Given the description of an element on the screen output the (x, y) to click on. 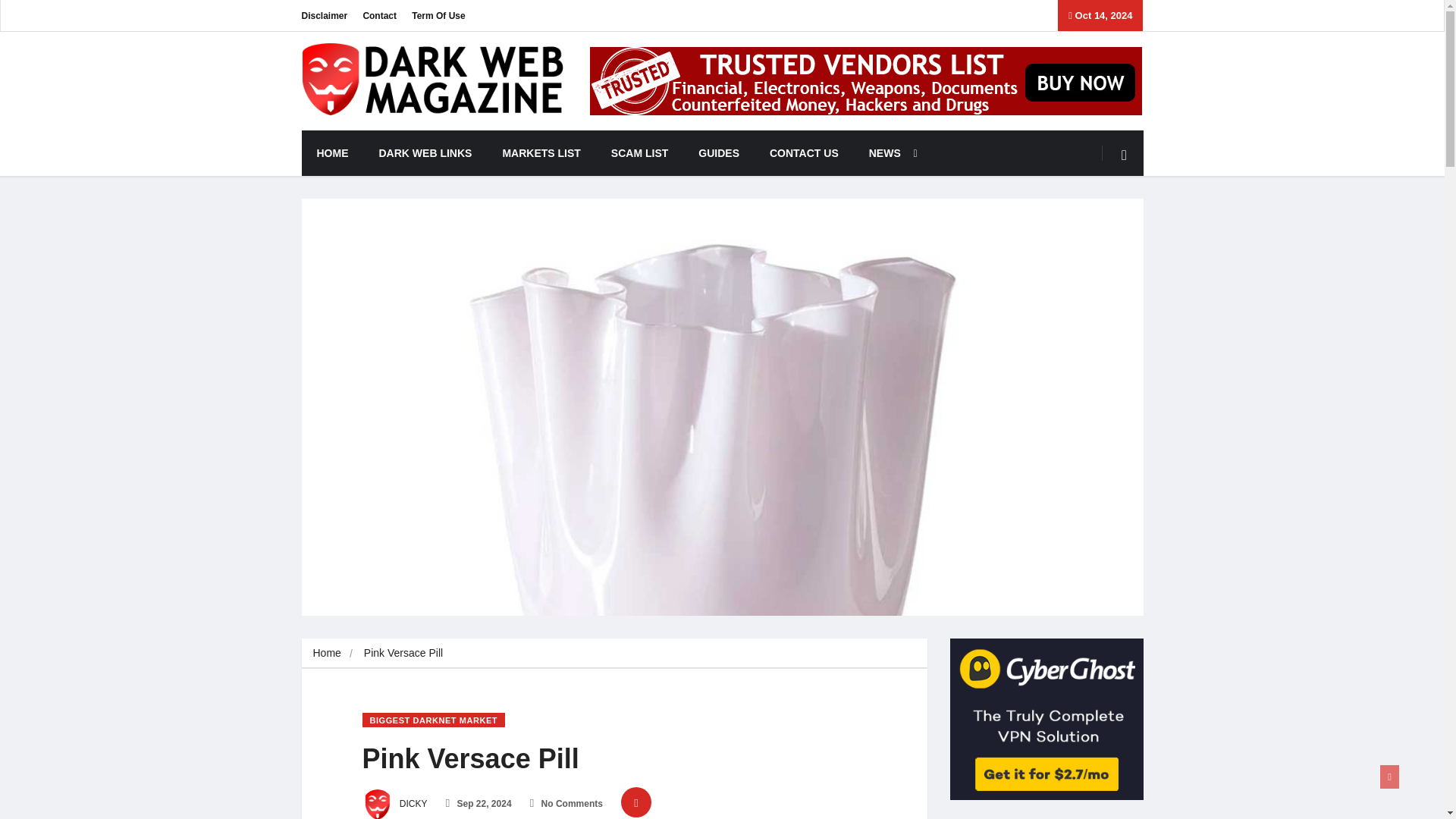
Home (326, 653)
BIGGEST DARKNET MARKET (433, 719)
Disclaimer (324, 15)
Contact (379, 15)
DICKY (395, 803)
HOME (332, 153)
NEWS (888, 153)
SCAM LIST (638, 153)
Term Of Use (438, 15)
MARKETS LIST (540, 153)
DARK WEB LINKS (425, 153)
GUIDES (718, 153)
CONTACT US (803, 153)
